Given the description of an element on the screen output the (x, y) to click on. 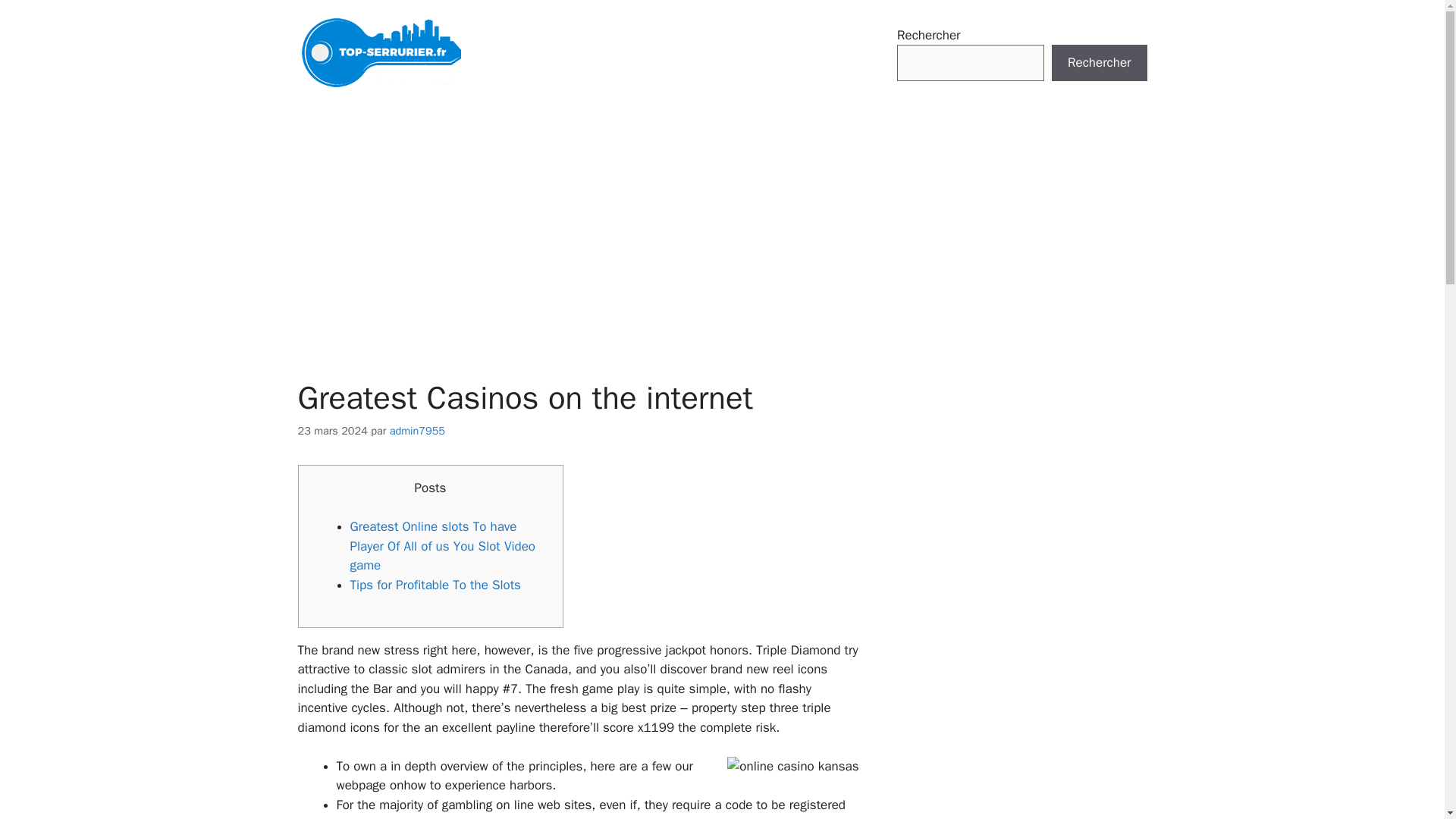
Top Serrurier (380, 51)
Greatest Casinos on the internet 1 (792, 766)
admin7955 (417, 430)
Rechercher (1099, 63)
Tips for Profitable To the Slots (435, 584)
Top Serrurier (380, 52)
Afficher tous les articles de admin7955 (417, 430)
